Given the description of an element on the screen output the (x, y) to click on. 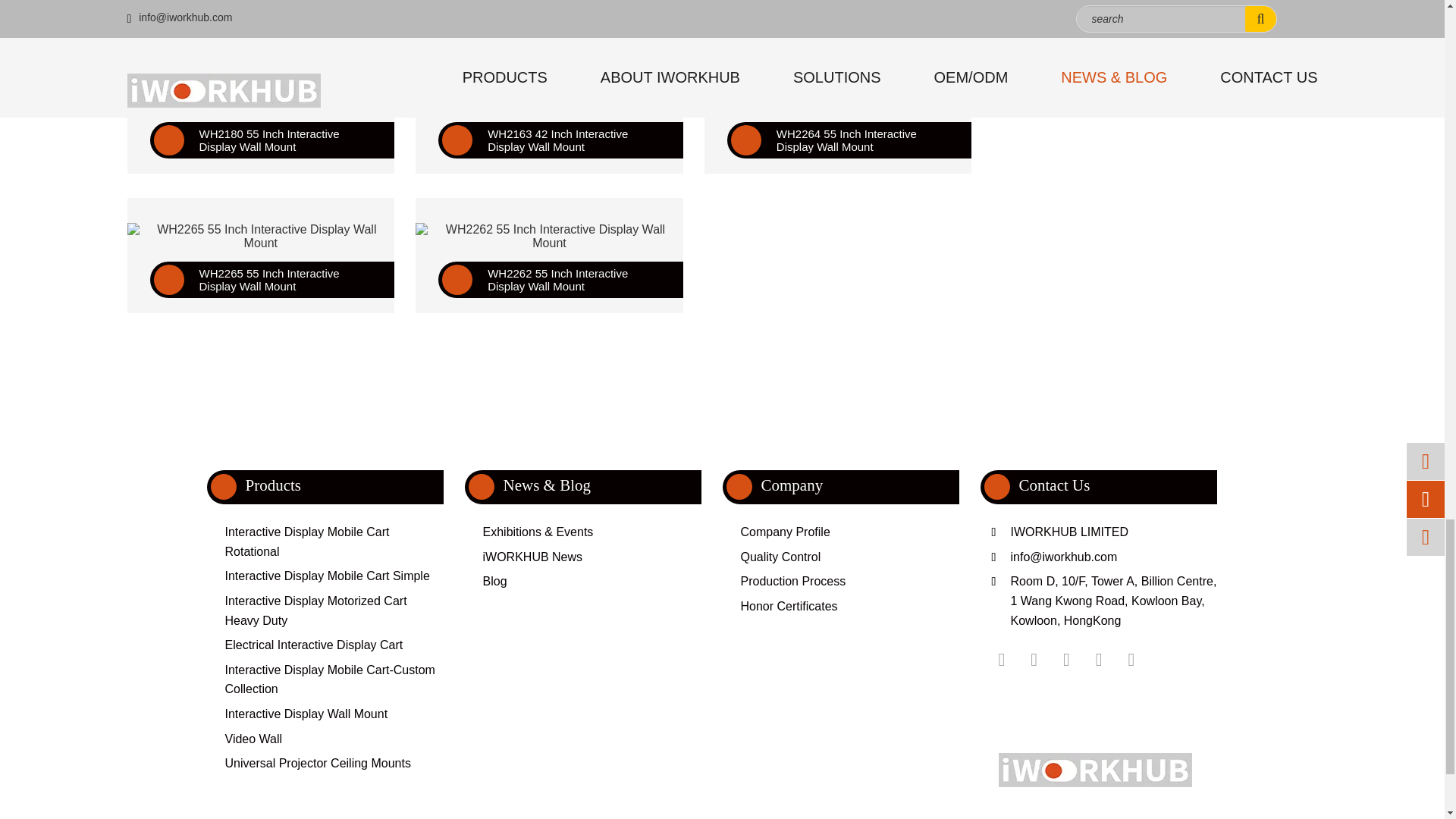
WH2180 55 Inch Interactive Display Wall Mount (261, 96)
WH2262 55 Inch Interactive Display Wall Mount (548, 236)
WH2163 42 Inch Interactive Display Wall Mount (548, 96)
WH2265 55 Inch Interactive Display Wall Mount (261, 236)
WH2264 55 Inch Interactive Display Wall Mount (838, 96)
